Given the description of an element on the screen output the (x, y) to click on. 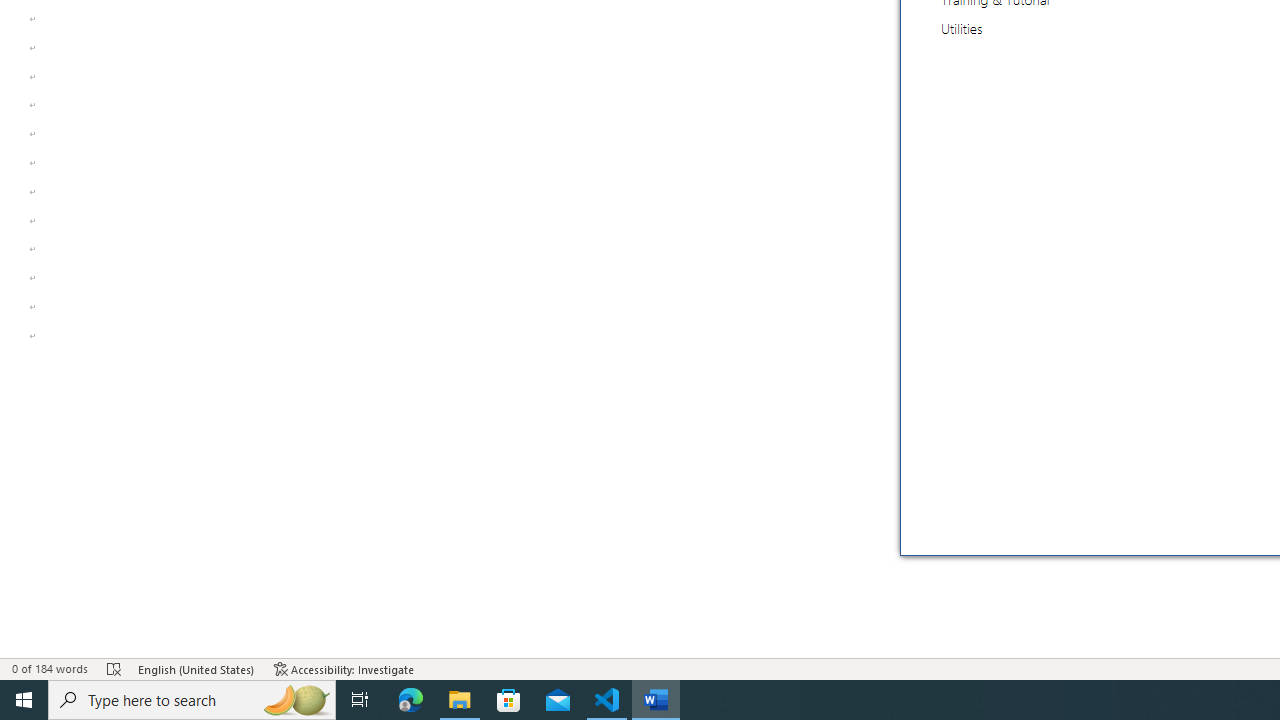
Microsoft Dynamics Office Add-in icon (1137, 54)
Spell checker and Grammar checker by Scribens icon (1137, 381)
officeatwork | Wizard for Office icon (1137, 503)
Microsoft Edge (411, 699)
Category Group Utilities 14 of 14 (964, 27)
Docusign for Word icon (1137, 156)
Word Count 0 of 184 words (49, 668)
officeatwork | Designer for Office icon (1137, 279)
File Explorer - 1 running window (460, 699)
